Given the description of an element on the screen output the (x, y) to click on. 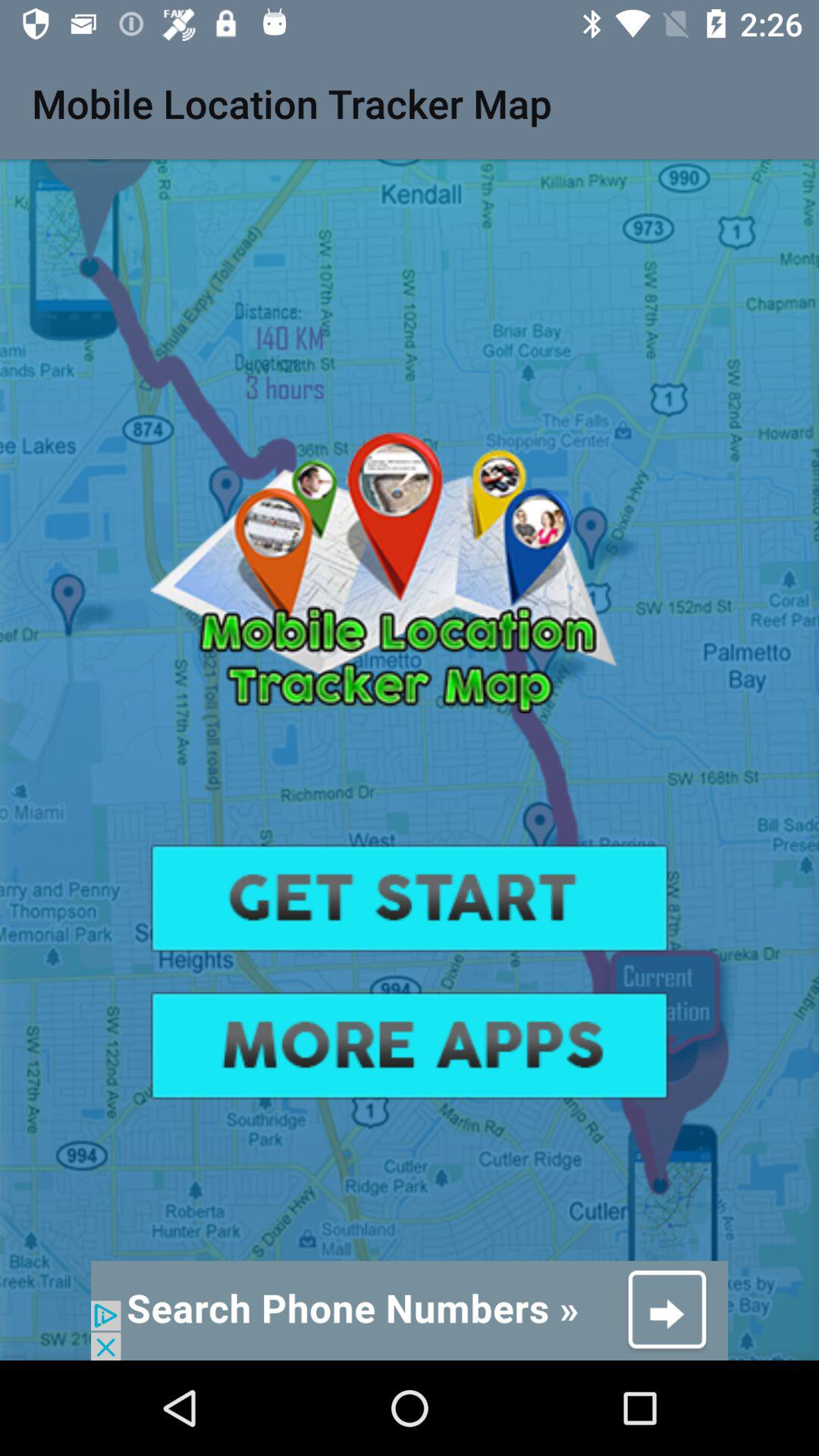
find out more apps (409, 1045)
